Given the description of an element on the screen output the (x, y) to click on. 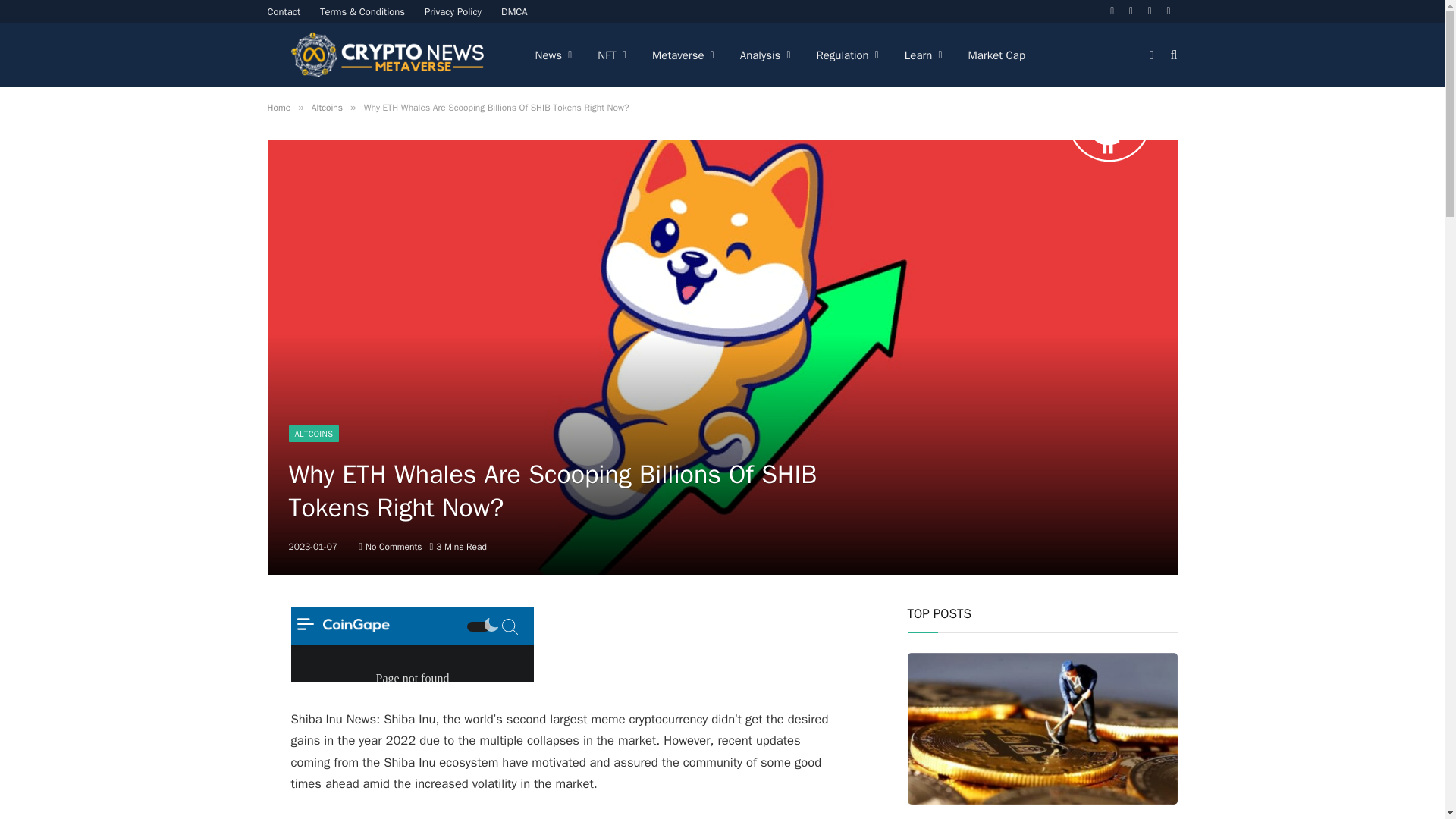
DMCA (514, 11)
Privacy Policy (453, 11)
Contact (284, 11)
News (553, 54)
CryptoNewsMetaverse (388, 54)
